Given the description of an element on the screen output the (x, y) to click on. 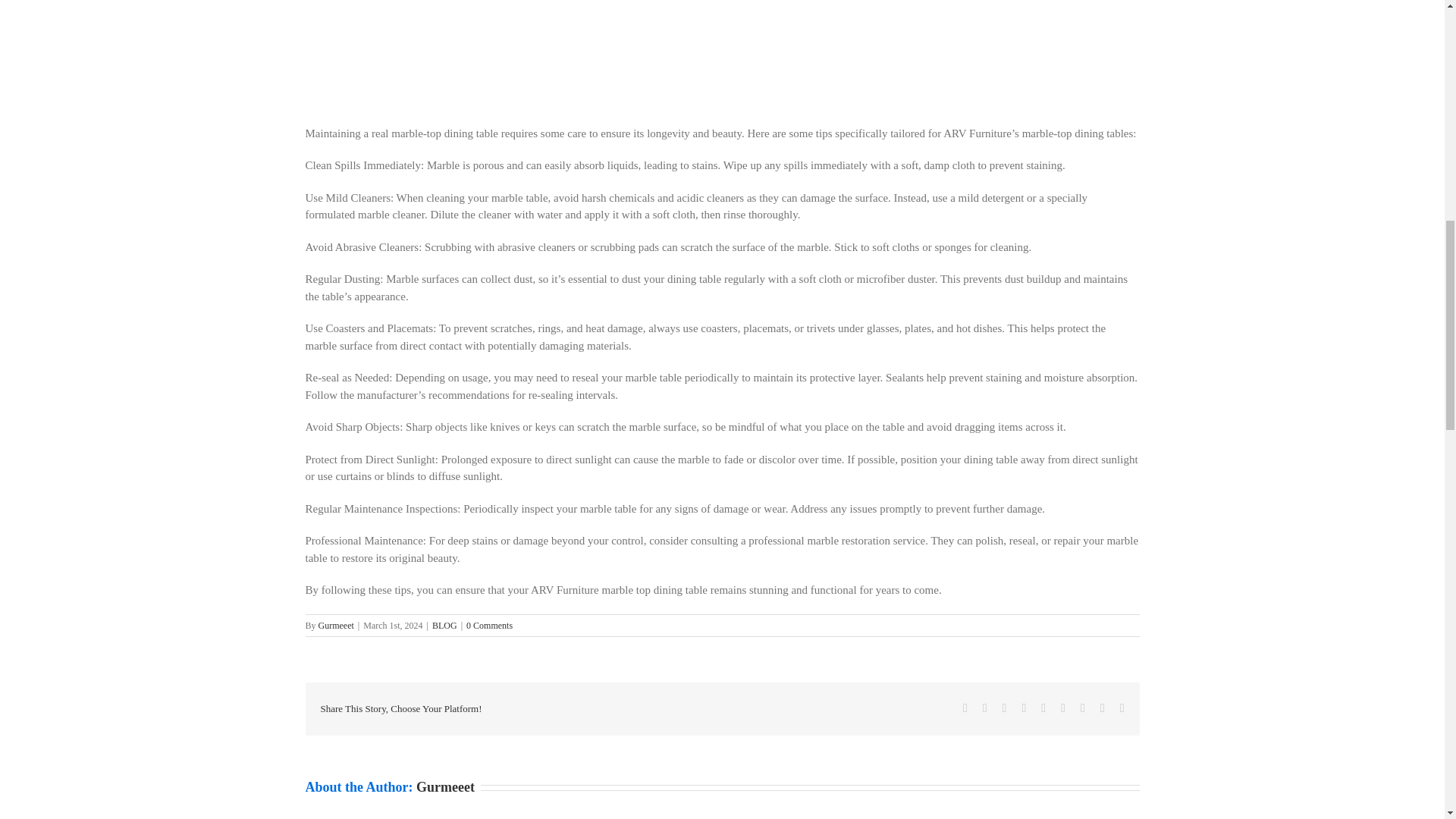
0 Comments (488, 624)
Posts by Gurmeeet (335, 624)
Posts by Gurmeeet (445, 786)
BLOG (444, 624)
Gurmeeet (335, 624)
Gurmeeet (445, 786)
